Given the description of an element on the screen output the (x, y) to click on. 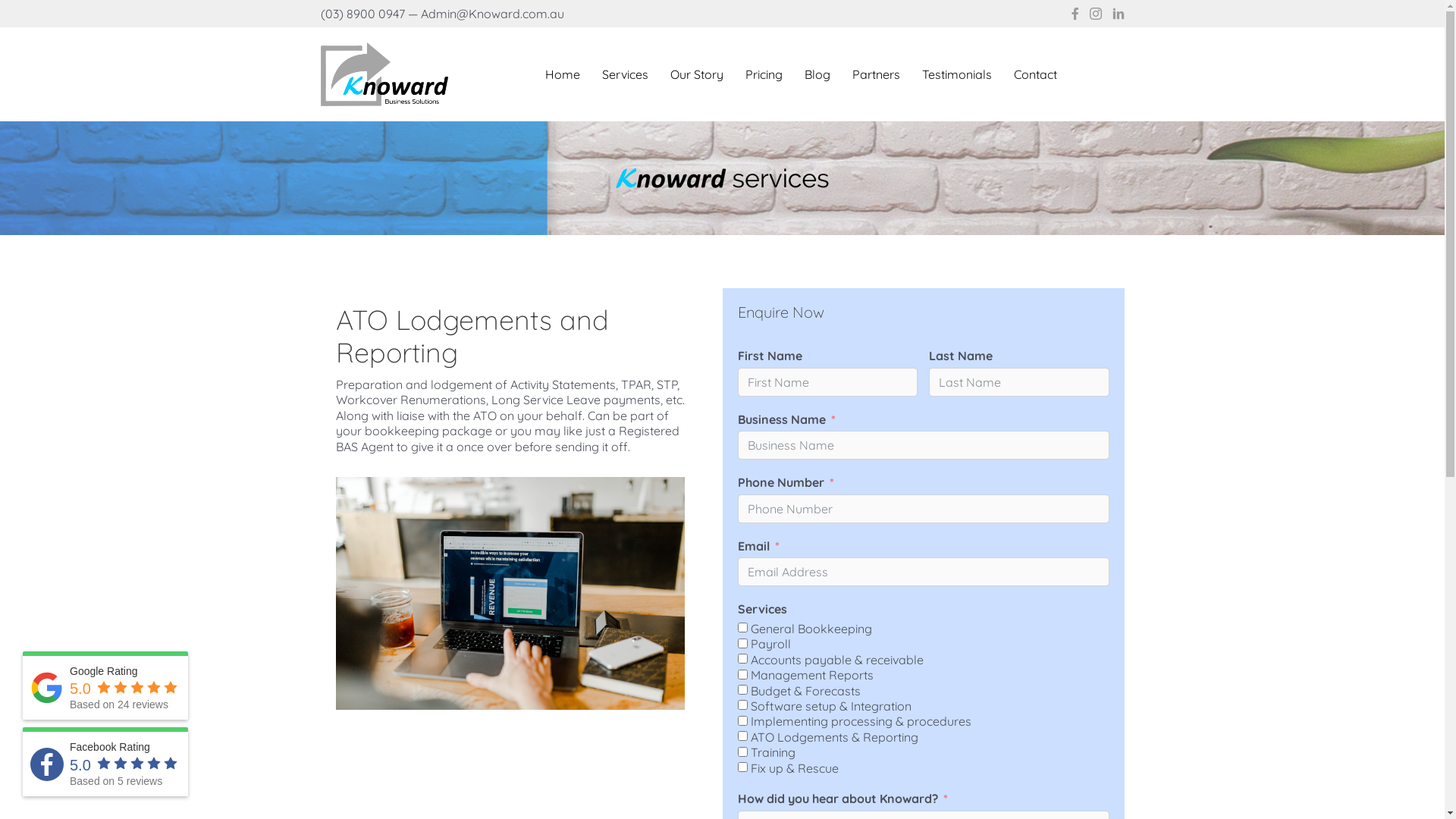
knowardservices-03 Element type: hover (722, 177)
Partners Element type: text (875, 74)
Logo-Pdf mobile Element type: hover (383, 74)
photo-1559526324-4b87b5e36e44 Element type: hover (509, 592)
Contact Element type: text (1035, 74)
Testimonials Element type: text (956, 74)
Services Element type: text (624, 74)
Home Element type: text (562, 74)
Our Story Element type: text (696, 74)
Blog Element type: text (816, 74)
Pricing Element type: text (763, 74)
